Given the description of an element on the screen output the (x, y) to click on. 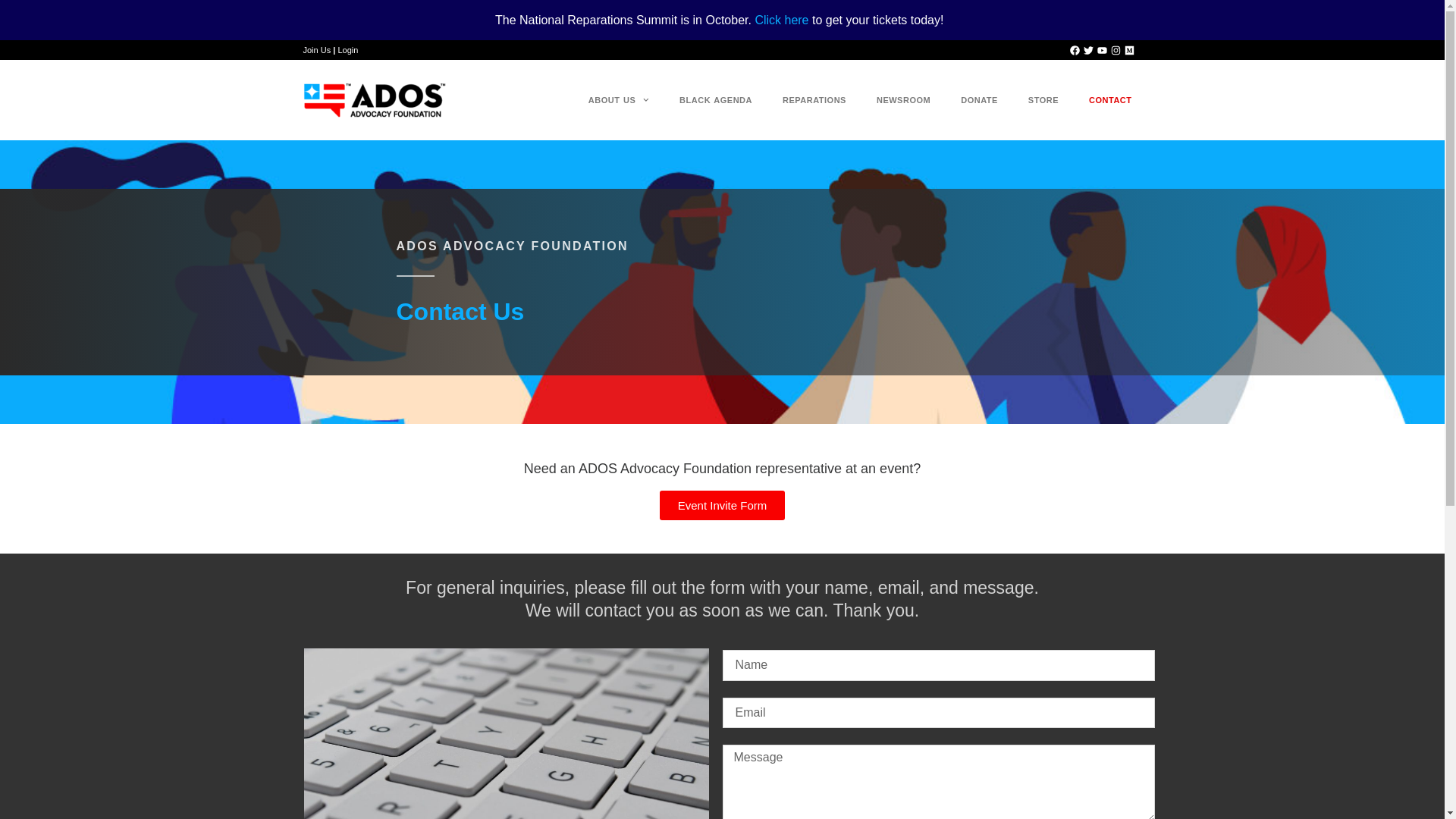
STORE (1043, 100)
ABOUT US (618, 100)
Click here (781, 19)
DONATE (978, 100)
NEWSROOM (902, 100)
REPARATIONS (814, 100)
BLACK AGENDA (715, 100)
CONTACT (1110, 100)
Join Us (316, 49)
Login (347, 49)
Event Invite Form (722, 505)
